Given the description of an element on the screen output the (x, y) to click on. 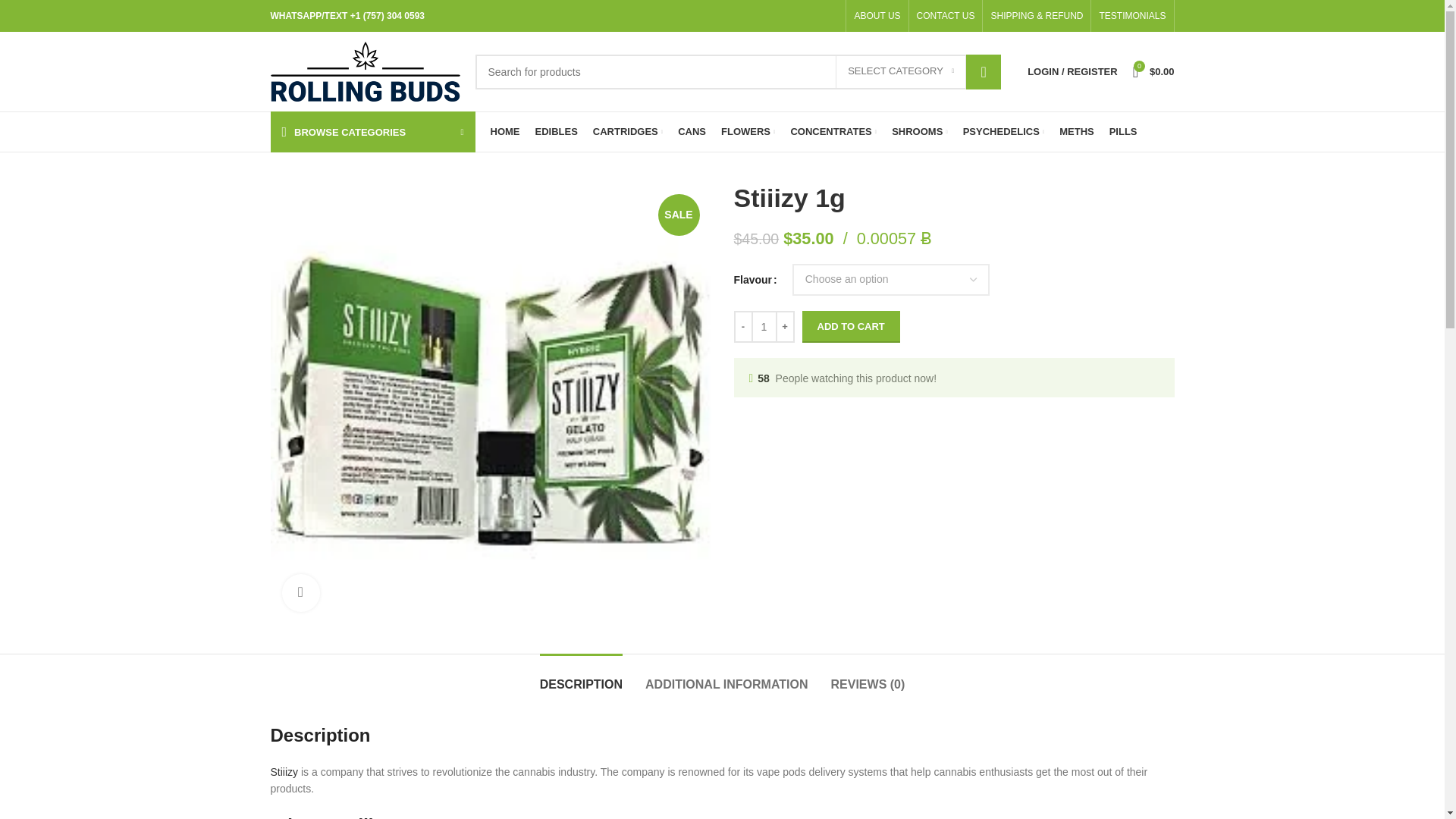
SELECT CATEGORY (900, 71)
CONTACT US (946, 15)
My account (1072, 71)
Search for products (737, 71)
ABOUT US (876, 15)
Shopping cart (1153, 71)
SELECT CATEGORY (900, 71)
TESTIMONIALS (1132, 15)
